Given the description of an element on the screen output the (x, y) to click on. 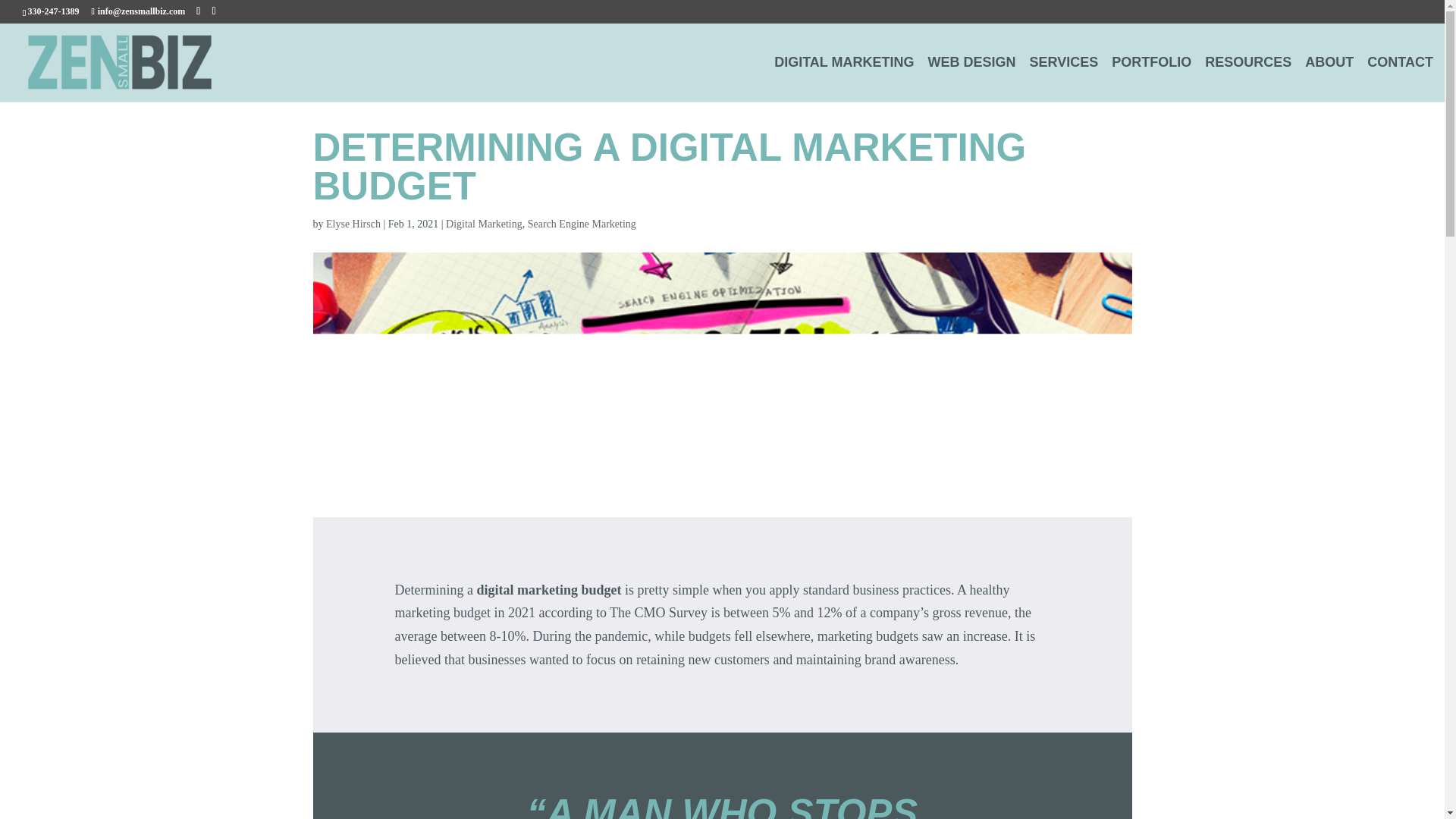
CONTACT (1399, 78)
Digital Marketing (483, 224)
RESOURCES (1248, 78)
WEB DESIGN (972, 78)
ABOUT (1329, 78)
SERVICES (1064, 78)
Search Engine Marketing (581, 224)
Posts by Elyse Hirsch (353, 224)
DIGITAL MARKETING (844, 78)
PORTFOLIO (1151, 78)
